Given the description of an element on the screen output the (x, y) to click on. 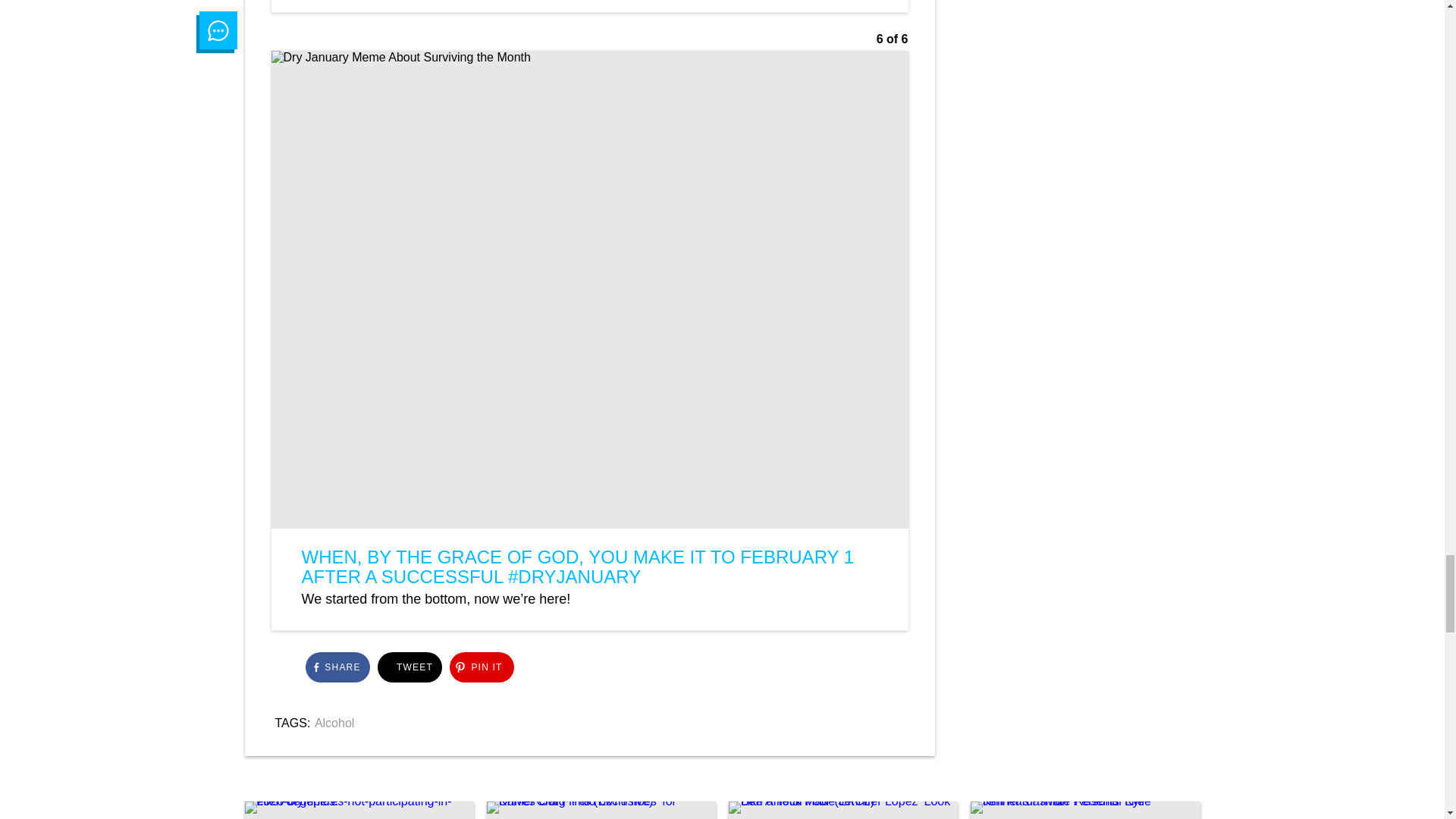
Click to share on Pinterest (480, 666)
Click to share on Facebook (336, 666)
Click to share on Twitter (409, 666)
